Given the description of an element on the screen output the (x, y) to click on. 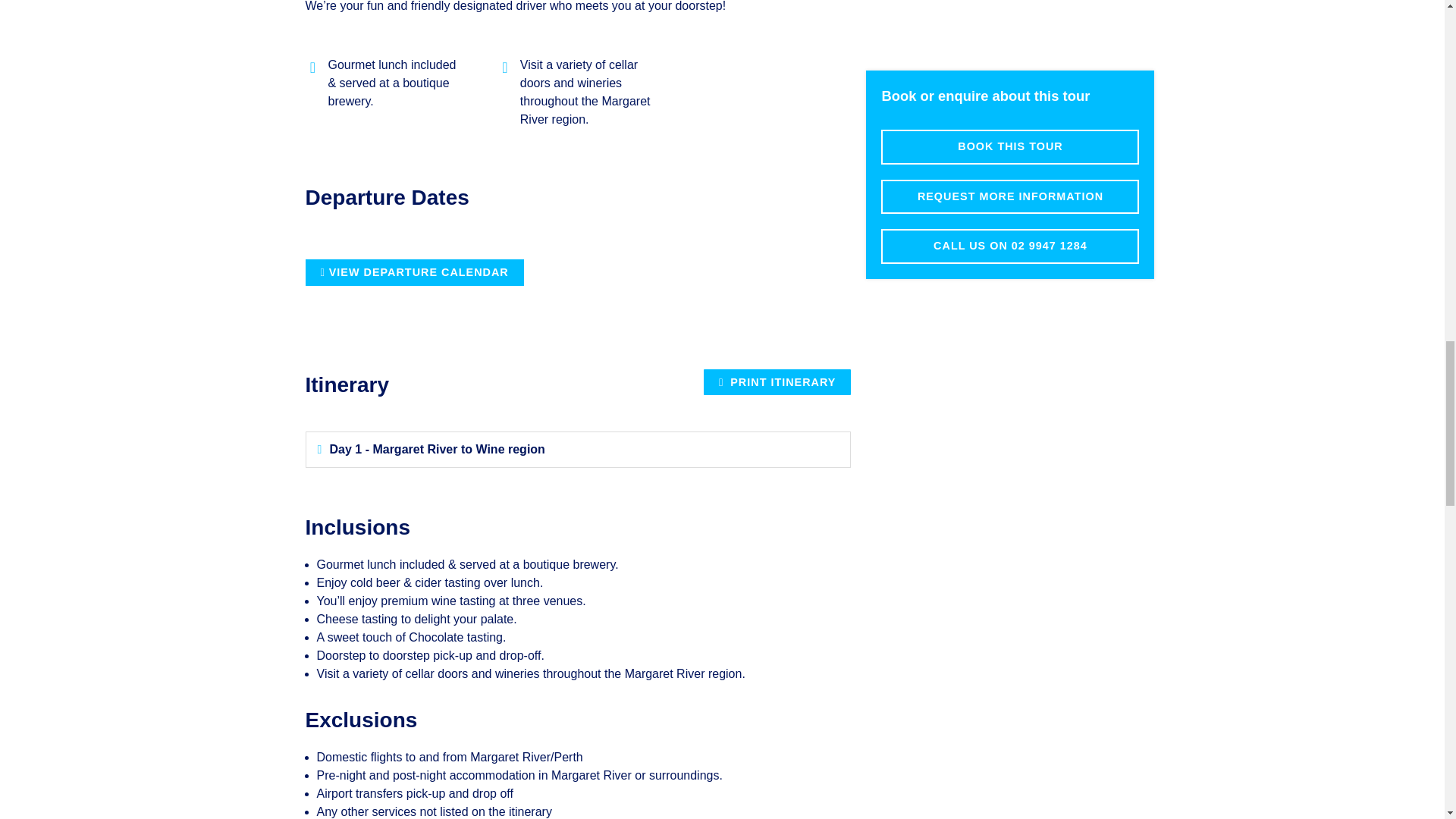
VIEW DEPARTURE CALENDAR (413, 272)
Day 1 - Margaret River to Wine region (436, 449)
PRINT ITINERARY (776, 381)
